Given the description of an element on the screen output the (x, y) to click on. 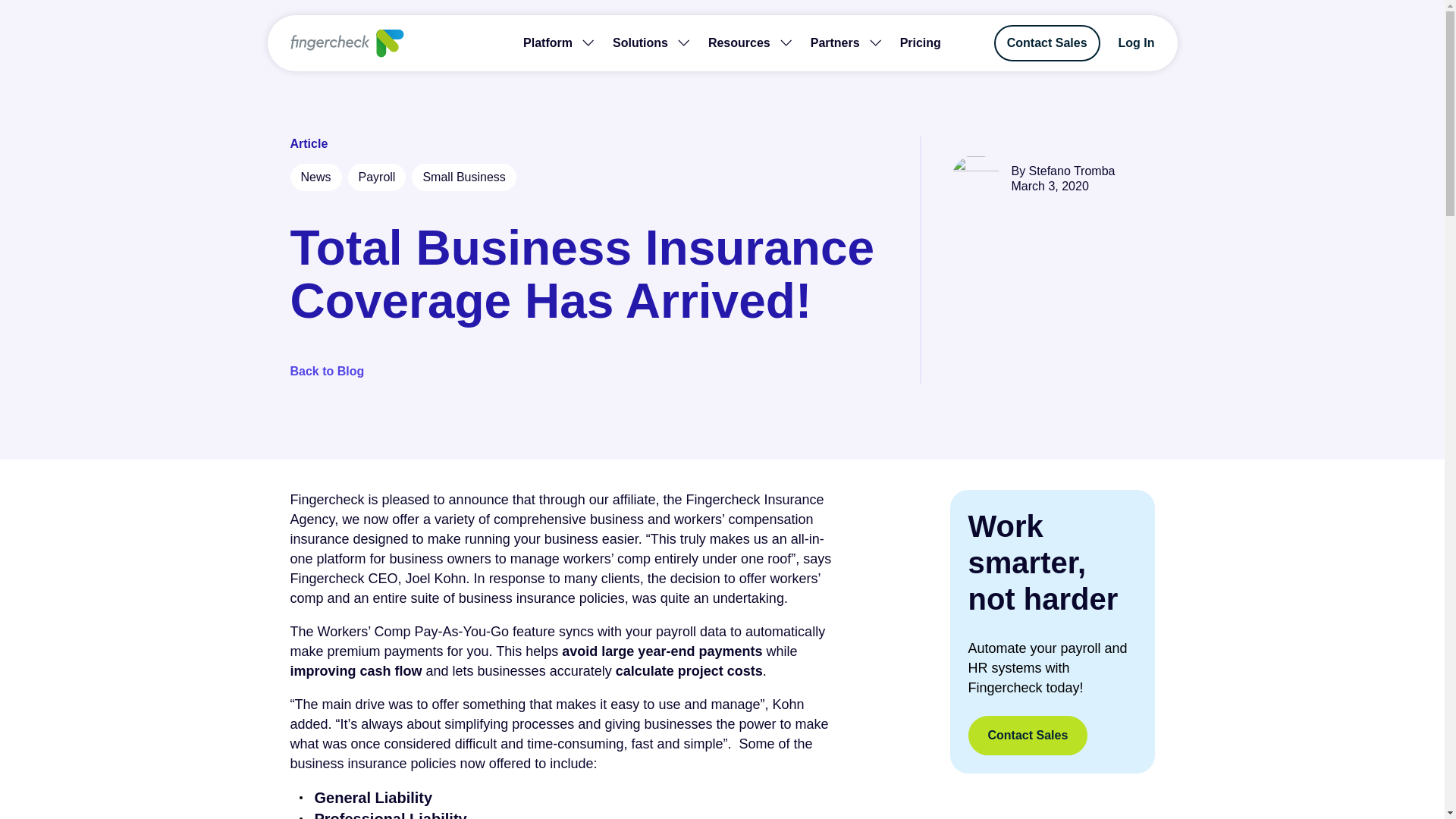
Pricing (919, 43)
Article (588, 176)
